Given the description of an element on the screen output the (x, y) to click on. 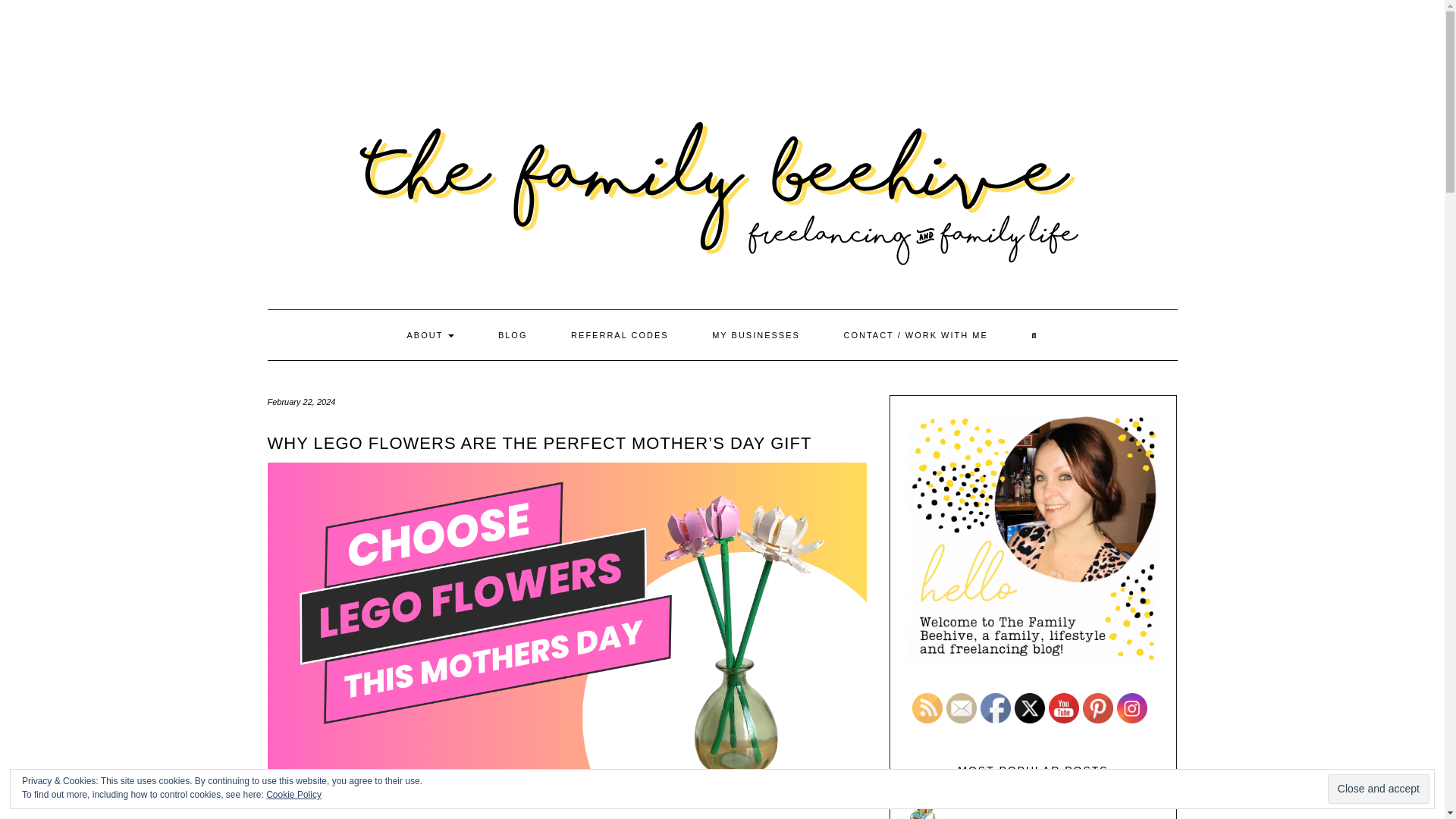
Close and accept (1378, 788)
BLOG (512, 335)
MY BUSINESSES (756, 335)
RSS (926, 707)
Follow by Email (961, 707)
ABOUT (431, 335)
REFERRAL CODES (619, 335)
